Given the description of an element on the screen output the (x, y) to click on. 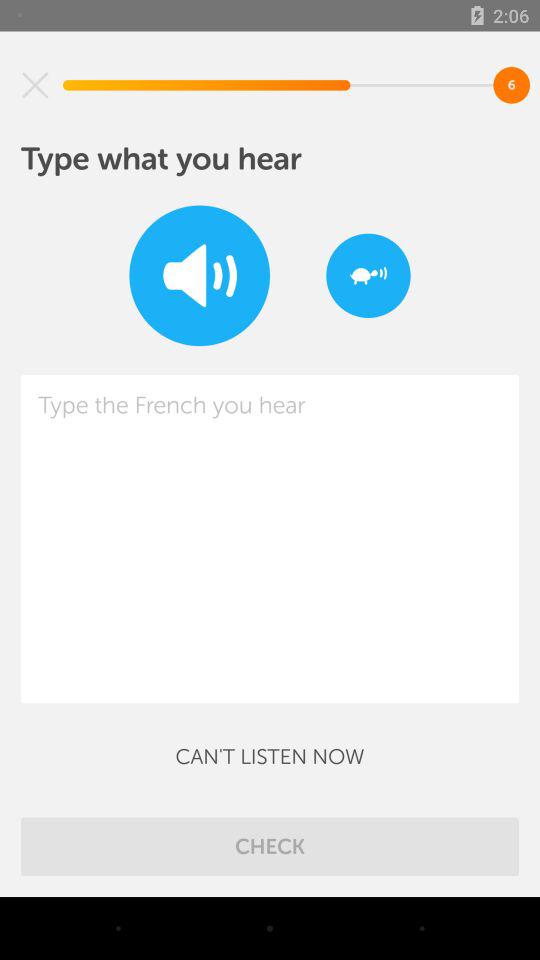
press can t listen icon (270, 756)
